Given the description of an element on the screen output the (x, y) to click on. 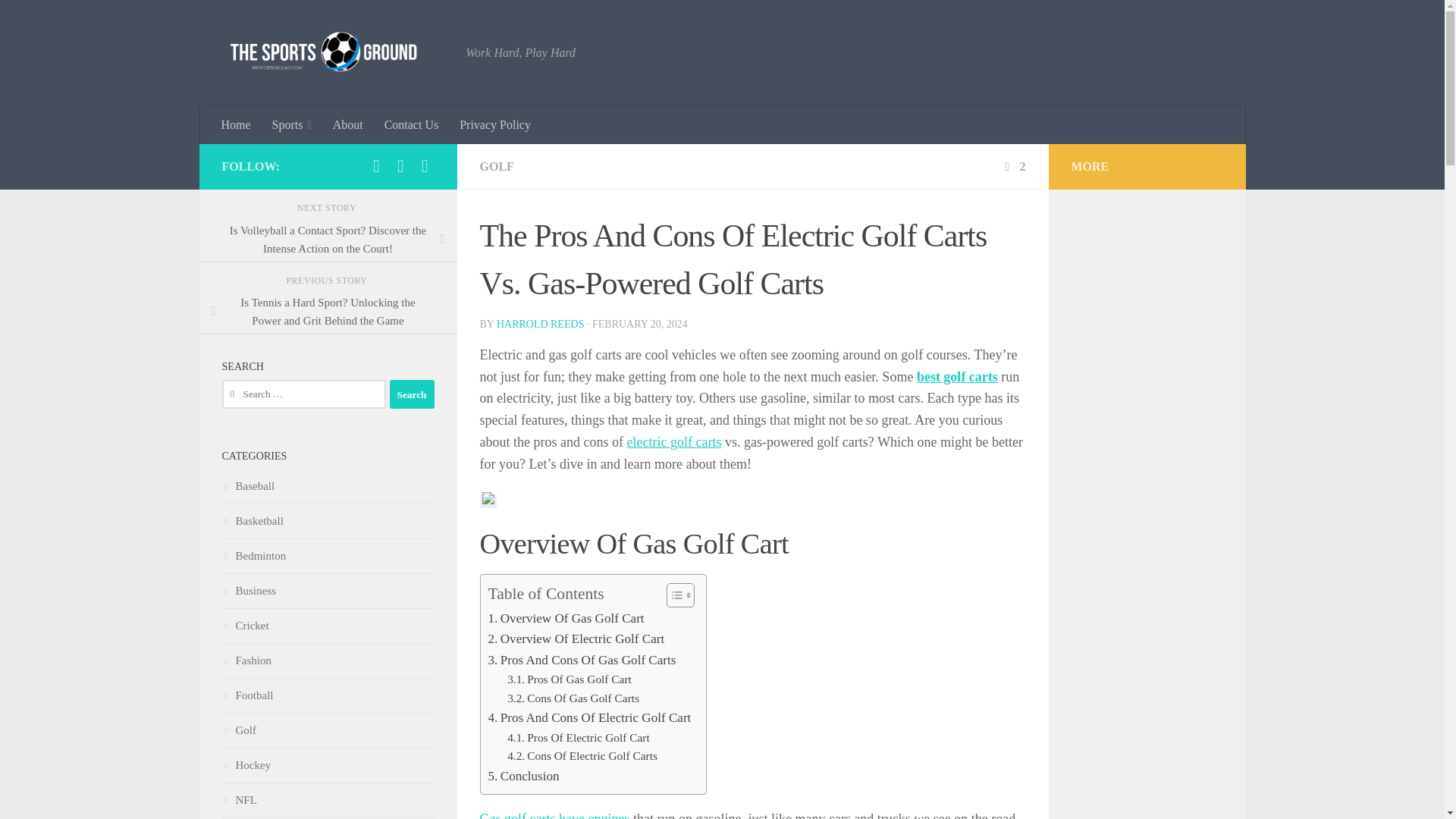
Privacy Policy (494, 125)
Cons Of Gas Golf Carts (572, 698)
Home (236, 125)
Pros Of Electric Golf Cart (577, 737)
Overview Of Gas Golf Cart (566, 618)
Search (411, 394)
Overview Of Gas Golf Cart (566, 618)
2 (1013, 165)
Pros And Cons Of Electric Golf Cart (589, 717)
Pros And Cons Of Gas Golf Carts (582, 660)
